Given the description of an element on the screen output the (x, y) to click on. 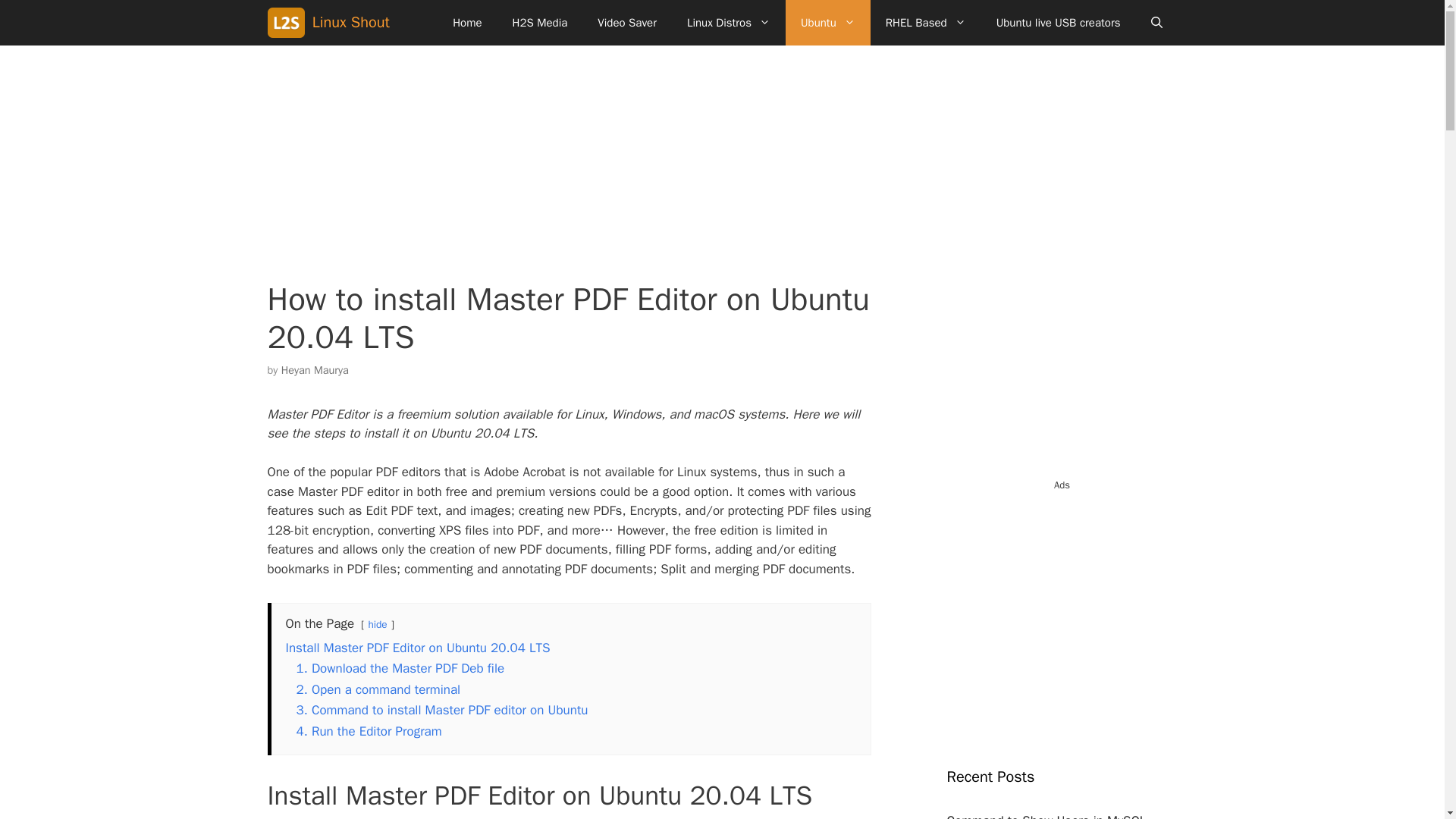
Linux Shout (288, 22)
H2S Media (540, 22)
Linux Distros (728, 22)
Linux Distros (728, 22)
View all posts by Heyan Maurya (315, 369)
Ubuntu Linux (828, 22)
Home (467, 22)
Linux Shout (351, 22)
Video Saver (626, 22)
